Given the description of an element on the screen output the (x, y) to click on. 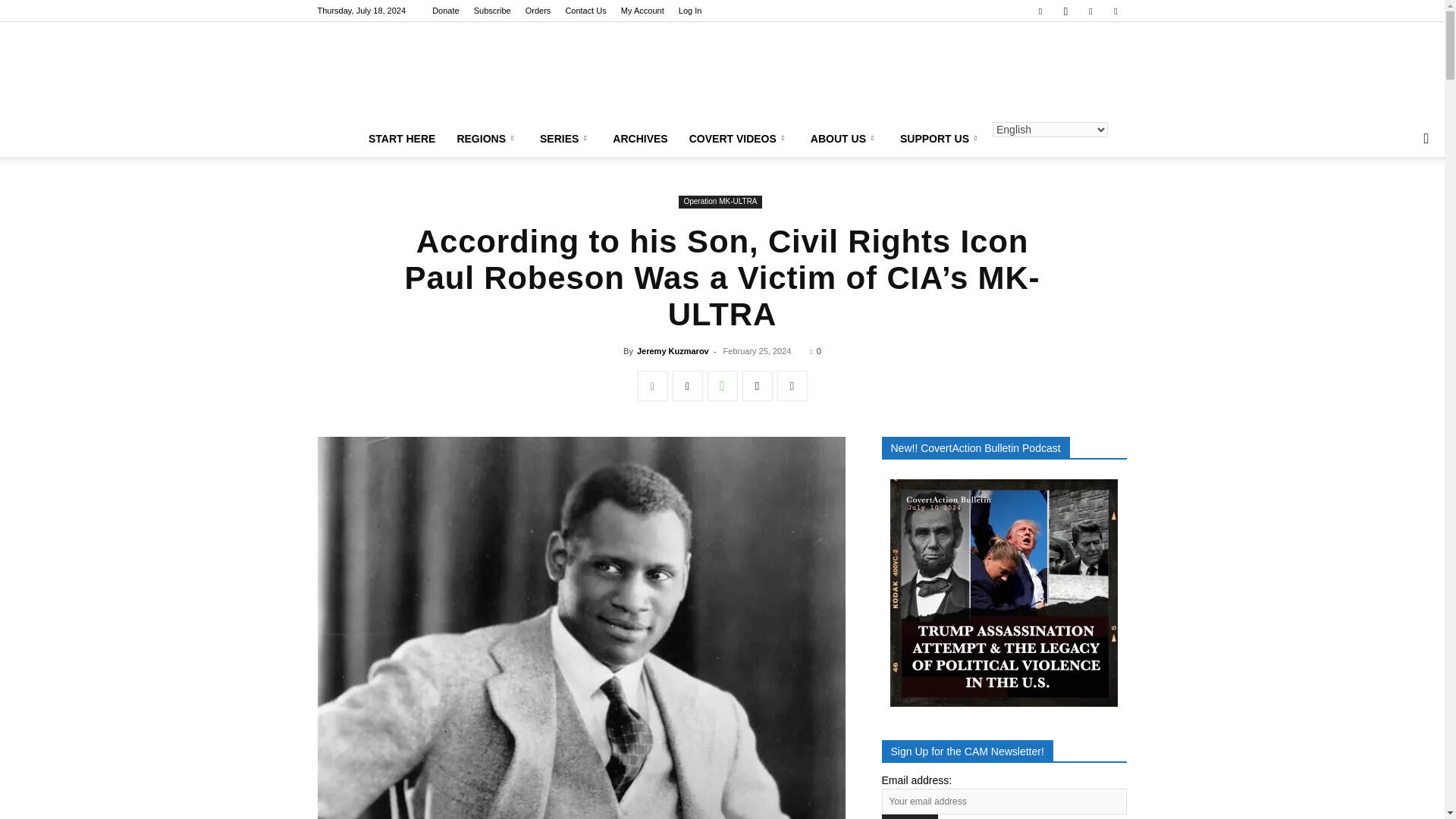
Facebook (651, 386)
Twitter (1090, 10)
Print (791, 386)
Sign up (908, 816)
Instagram (1065, 10)
Twitter (686, 386)
WhatsApp (721, 386)
Email (756, 386)
Facebook (1040, 10)
Youtube (1114, 10)
